Given the description of an element on the screen output the (x, y) to click on. 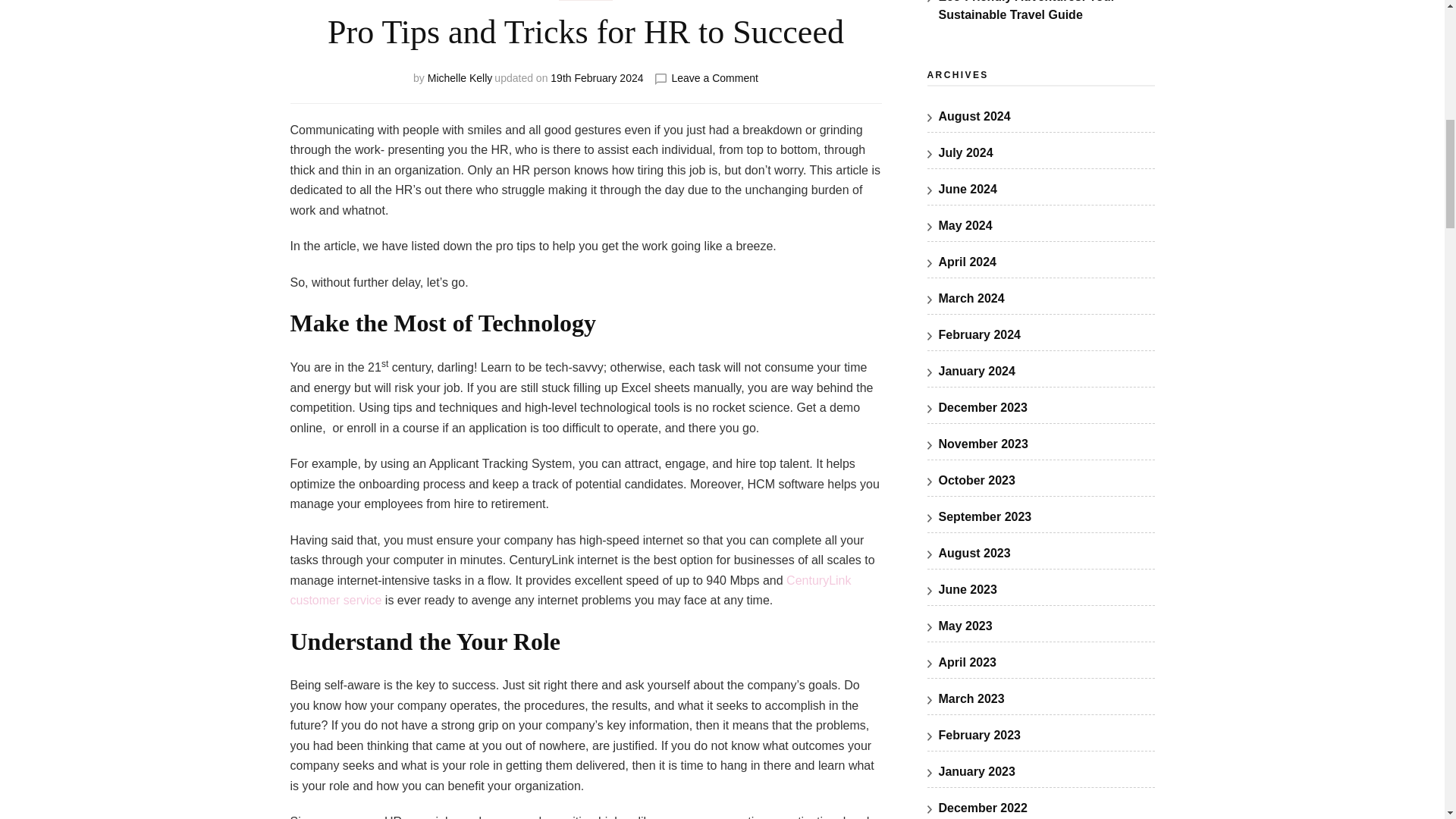
19th February 2024 (714, 78)
ADVICE (596, 78)
CenturyLink customer service (585, 0)
Michelle Kelly (569, 590)
